Given the description of an element on the screen output the (x, y) to click on. 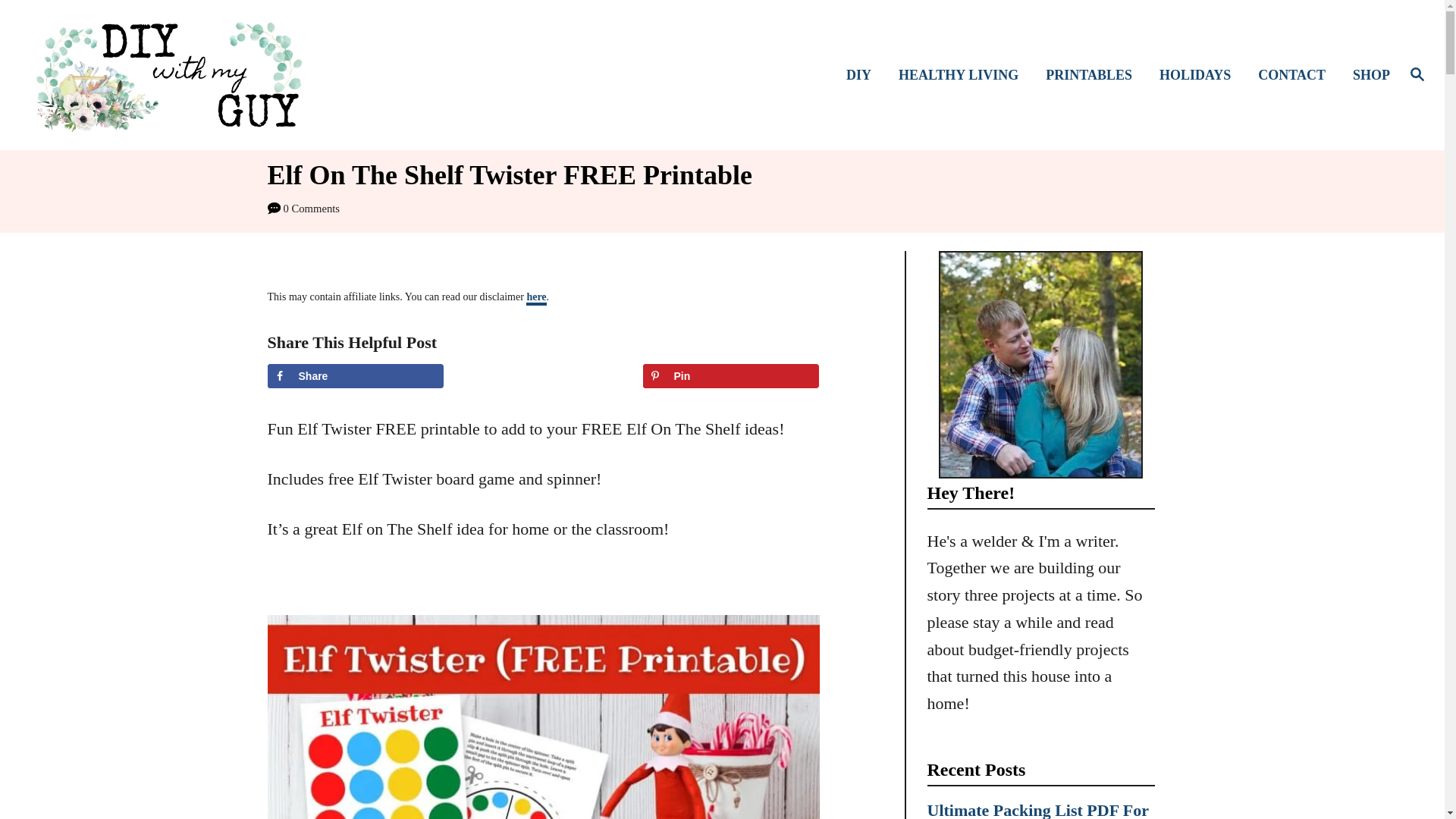
Share on X (542, 375)
Tweet (542, 375)
Pin (731, 375)
Share on Facebook (355, 375)
Magnifying Glass (1416, 74)
HEALTHY LIVING (962, 75)
here (535, 298)
DIY (863, 75)
Save to Pinterest (731, 375)
DIY With My Guy (204, 74)
HOLIDAYS (1199, 75)
Share (355, 375)
CONTACT (1296, 75)
SHOP (1366, 75)
PRINTABLES (1093, 75)
